Given the description of an element on the screen output the (x, y) to click on. 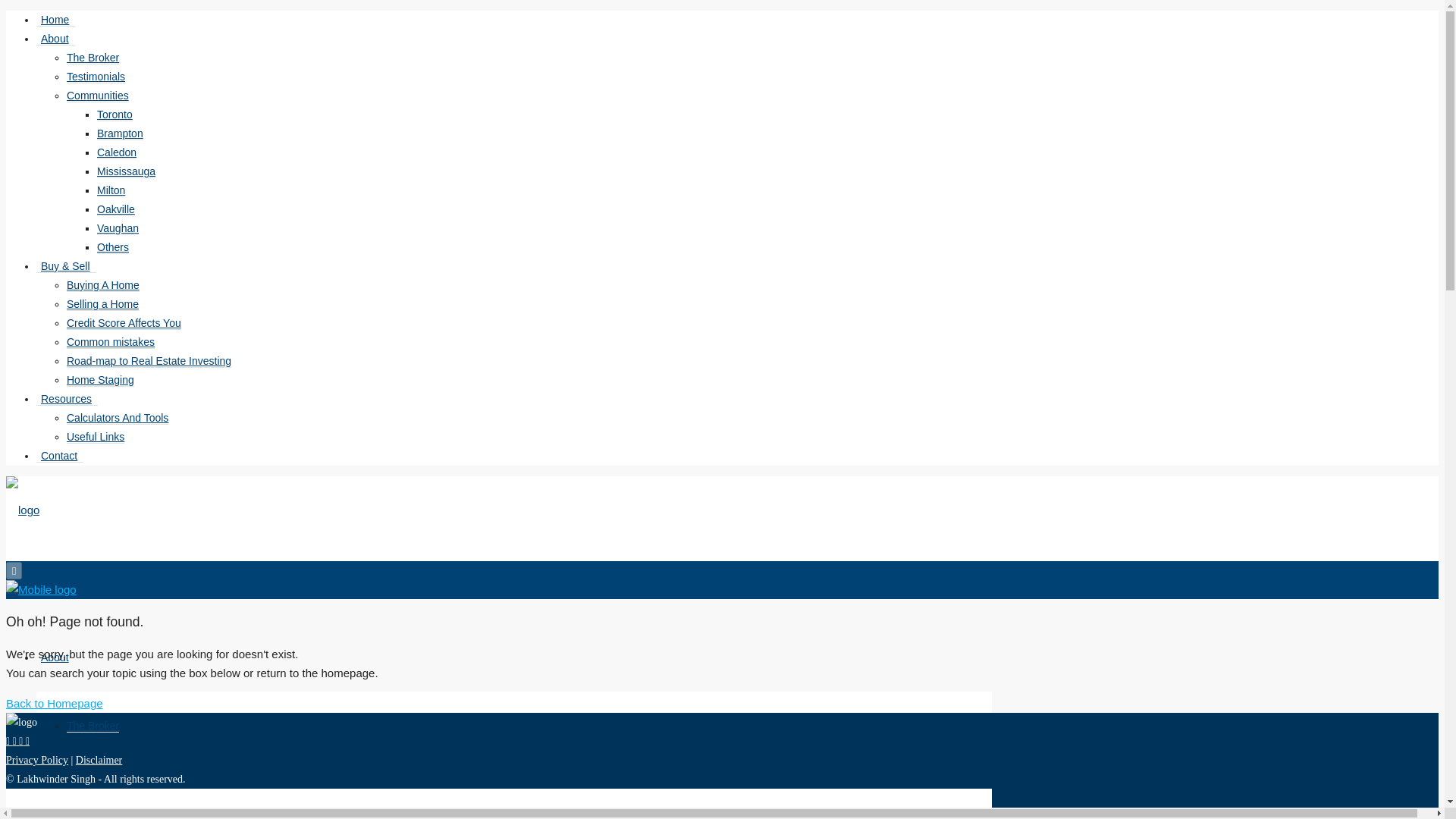
Resources (66, 399)
Common mistakes (110, 341)
Useful Links (94, 436)
Road-map to Real Estate Investing (148, 360)
Credit Score Affects You (123, 323)
About (55, 657)
The Broker (92, 57)
Oakville (116, 209)
Mississauga (126, 171)
Buying A Home (102, 285)
About (55, 38)
Home (55, 589)
Toronto (114, 114)
Calculators And Tools (117, 418)
Home (55, 19)
